Given the description of an element on the screen output the (x, y) to click on. 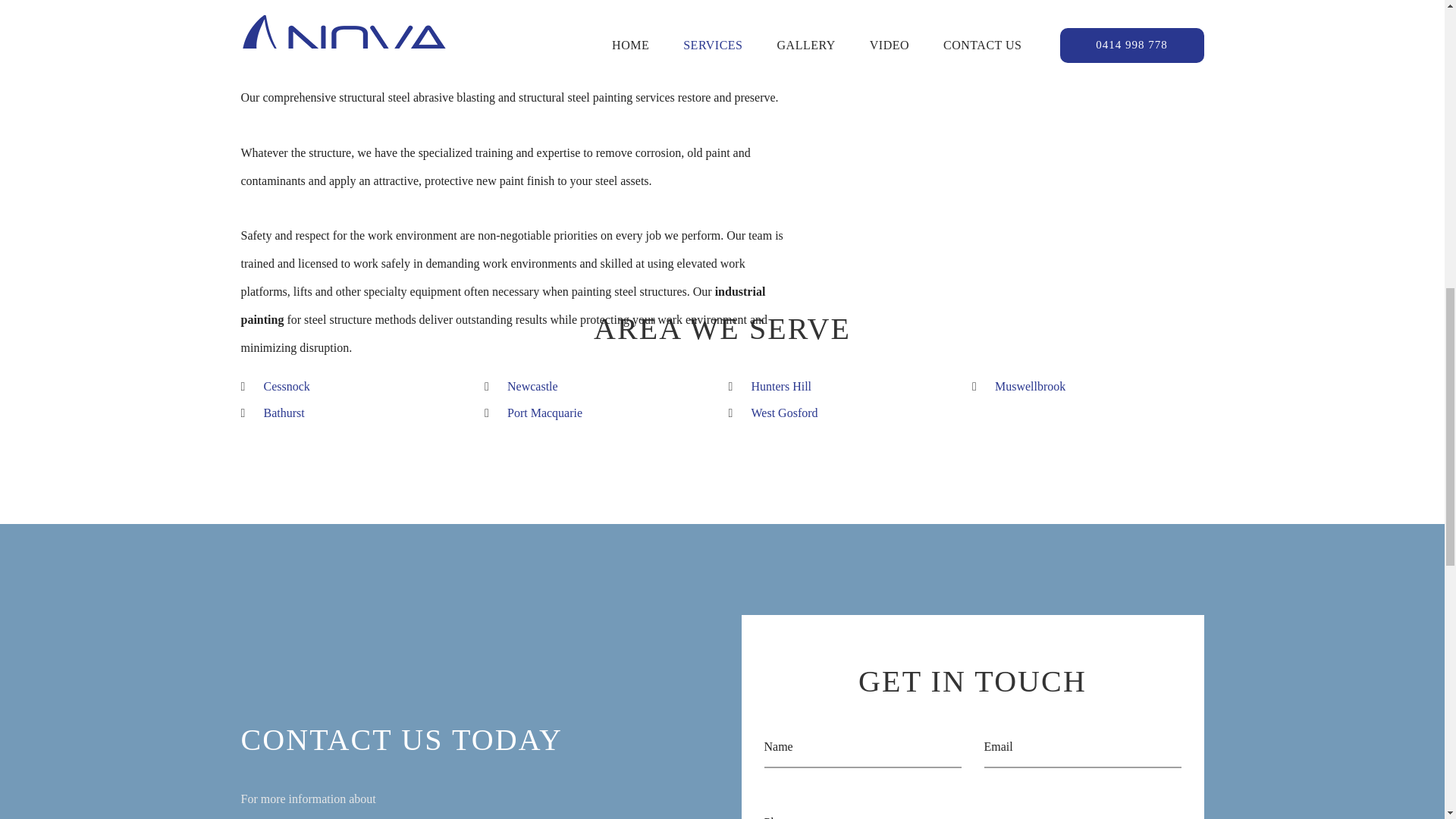
Port Macquarie (544, 412)
Newcastle (531, 386)
Hunters Hill (780, 386)
Cessnock (286, 386)
Muswellbrook (1029, 386)
Bathurst (283, 412)
West Gosford (783, 412)
